Given the description of an element on the screen output the (x, y) to click on. 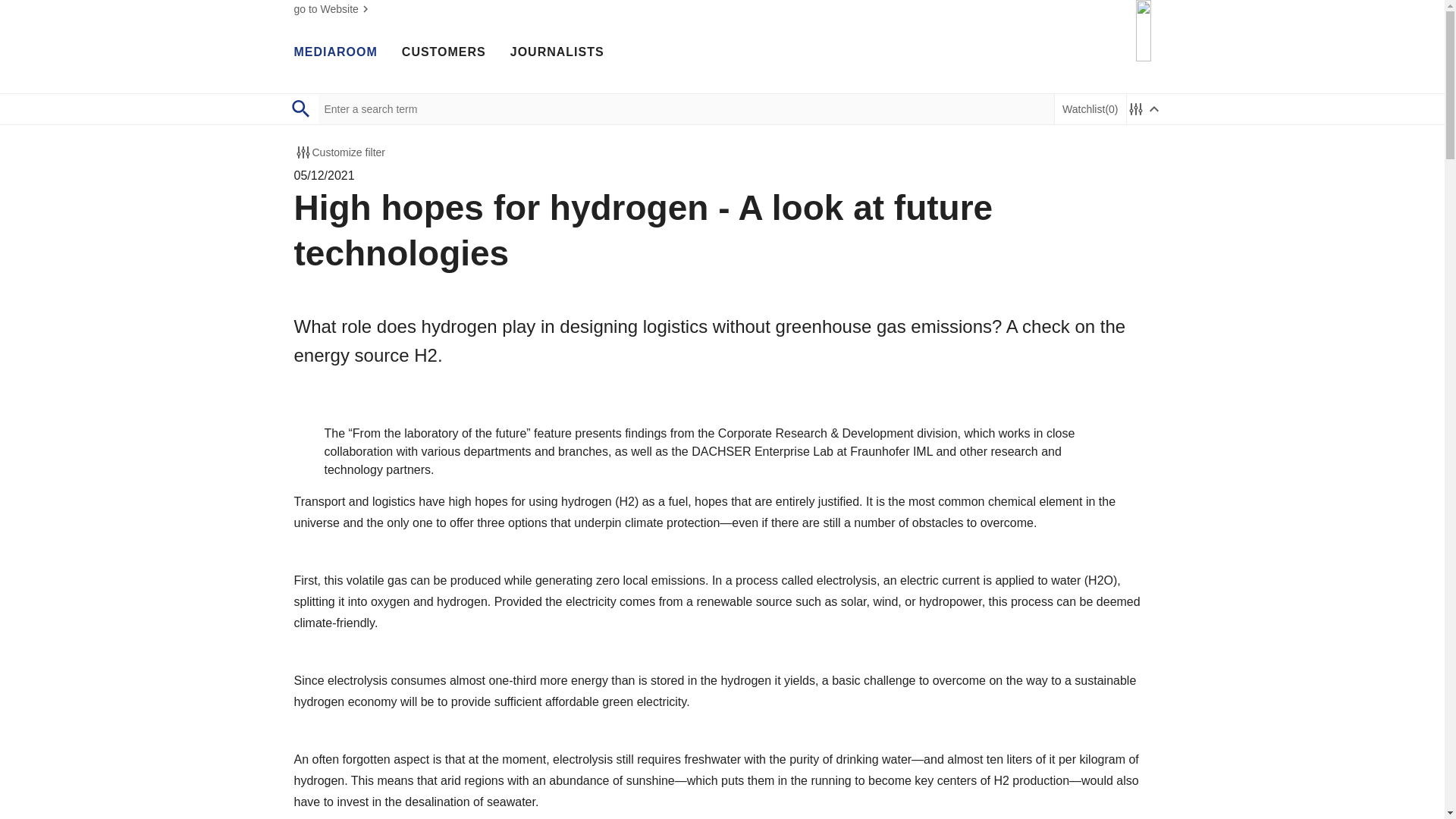
MEDIAROOM (335, 51)
CUSTOMERS (443, 51)
JOURNALISTS (557, 51)
go to Website (333, 9)
